Given the description of an element on the screen output the (x, y) to click on. 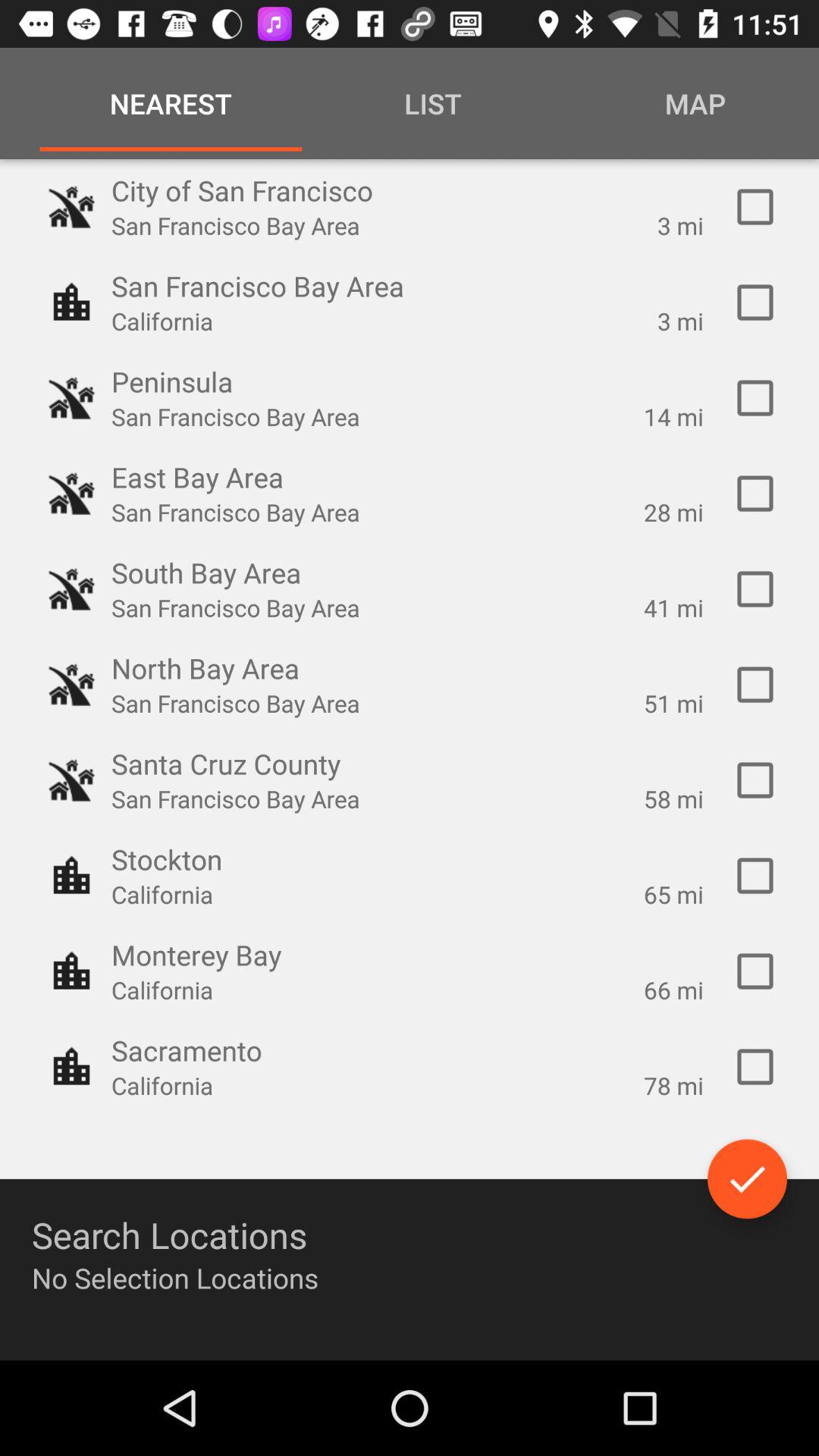
toggle nearest location (755, 206)
